Given the description of an element on the screen output the (x, y) to click on. 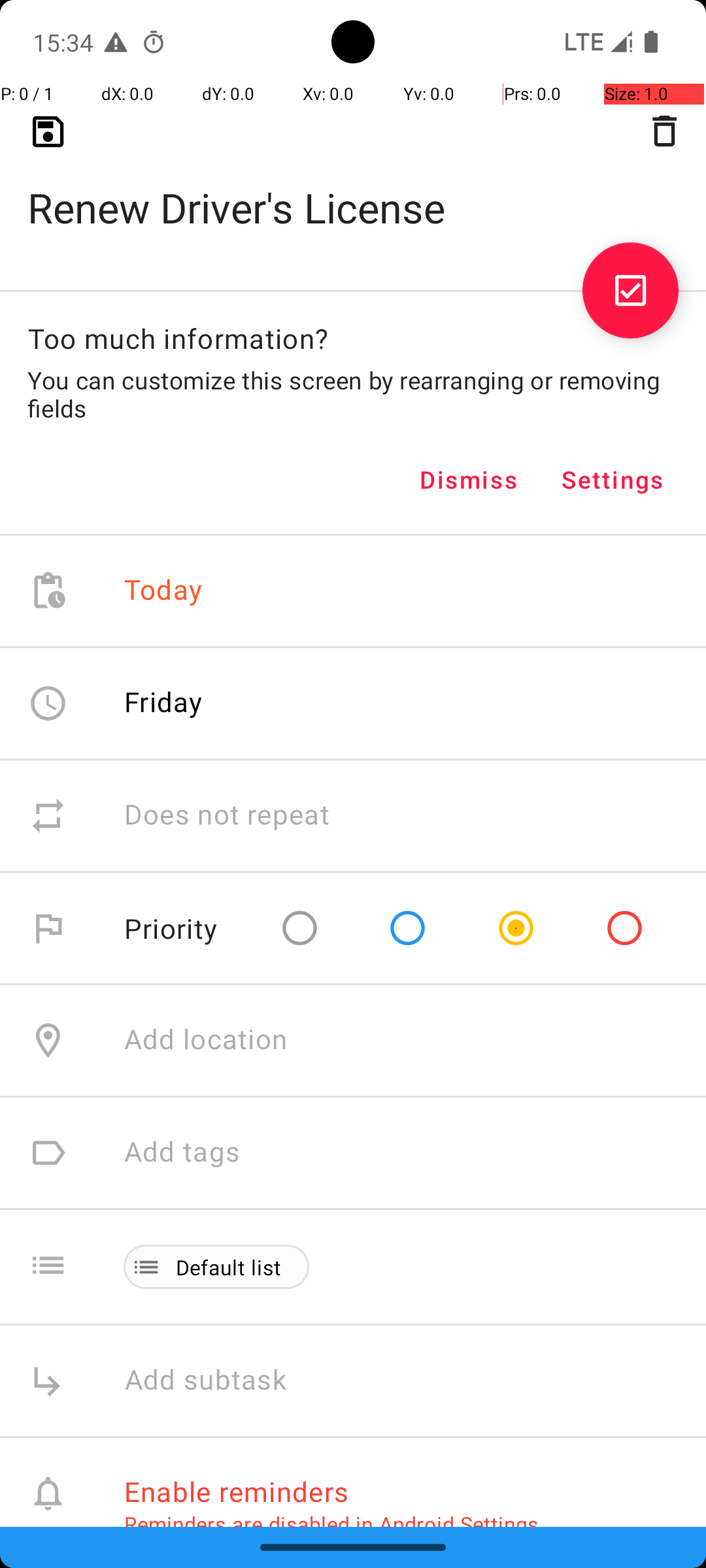
Renew Driver's License Element type: android.widget.EditText (353, 186)
Enable reminders Element type: android.widget.TextView (236, 1490)
Reminders are disabled in Android Settings Element type: android.widget.TextView (331, 1523)
